Given the description of an element on the screen output the (x, y) to click on. 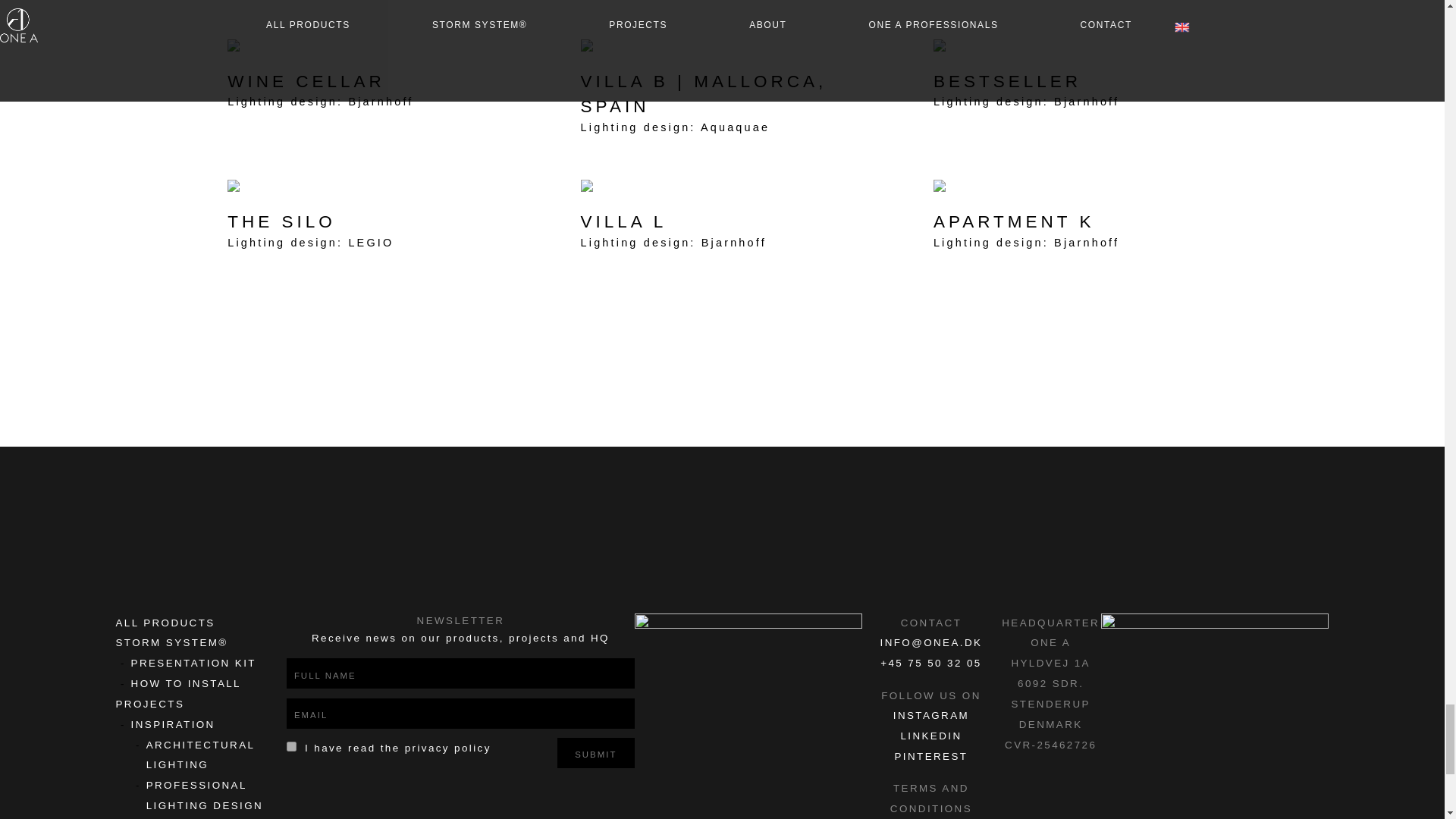
on (291, 746)
